Given the description of an element on the screen output the (x, y) to click on. 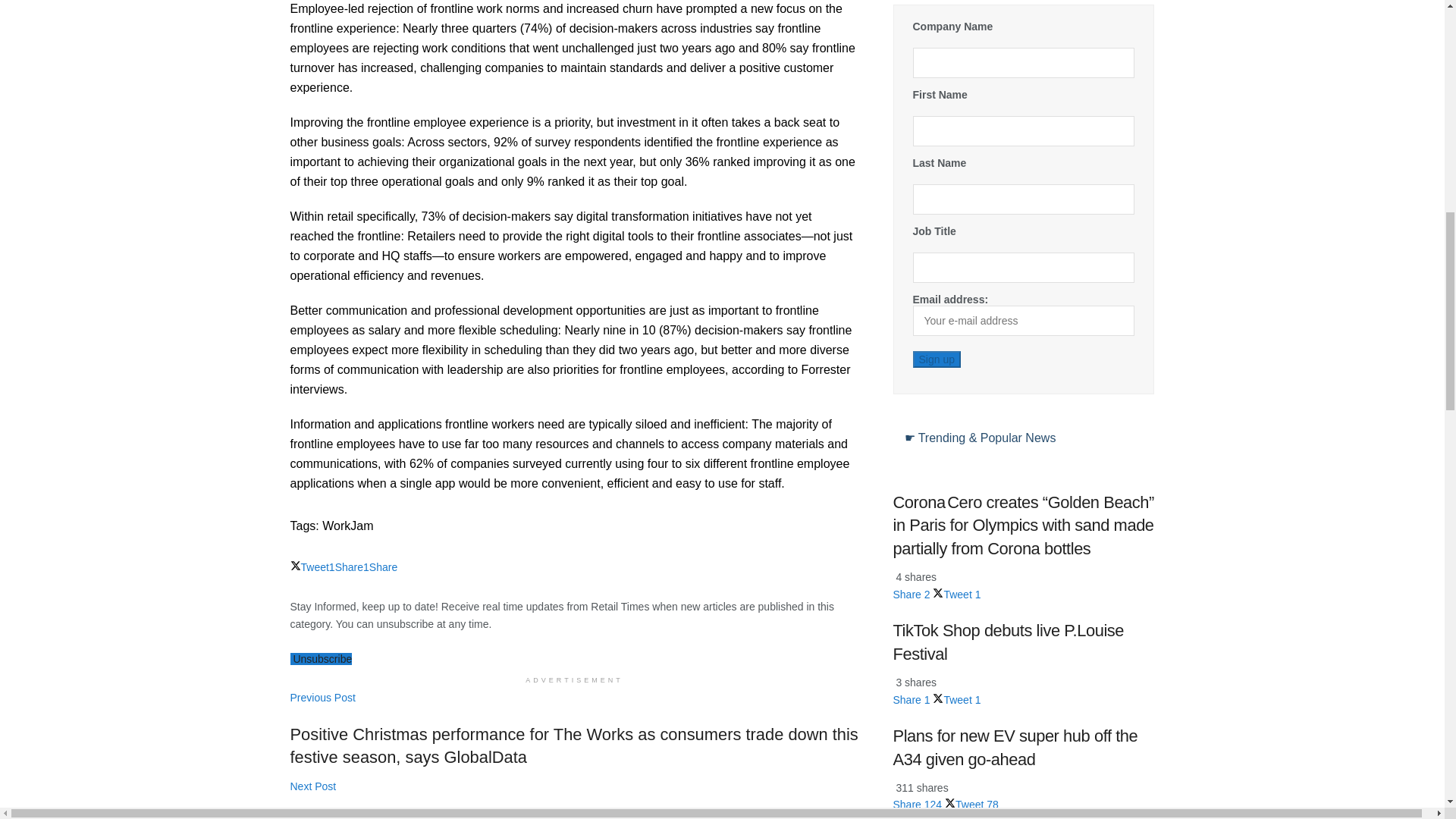
Sign up (936, 359)
